Given the description of an element on the screen output the (x, y) to click on. 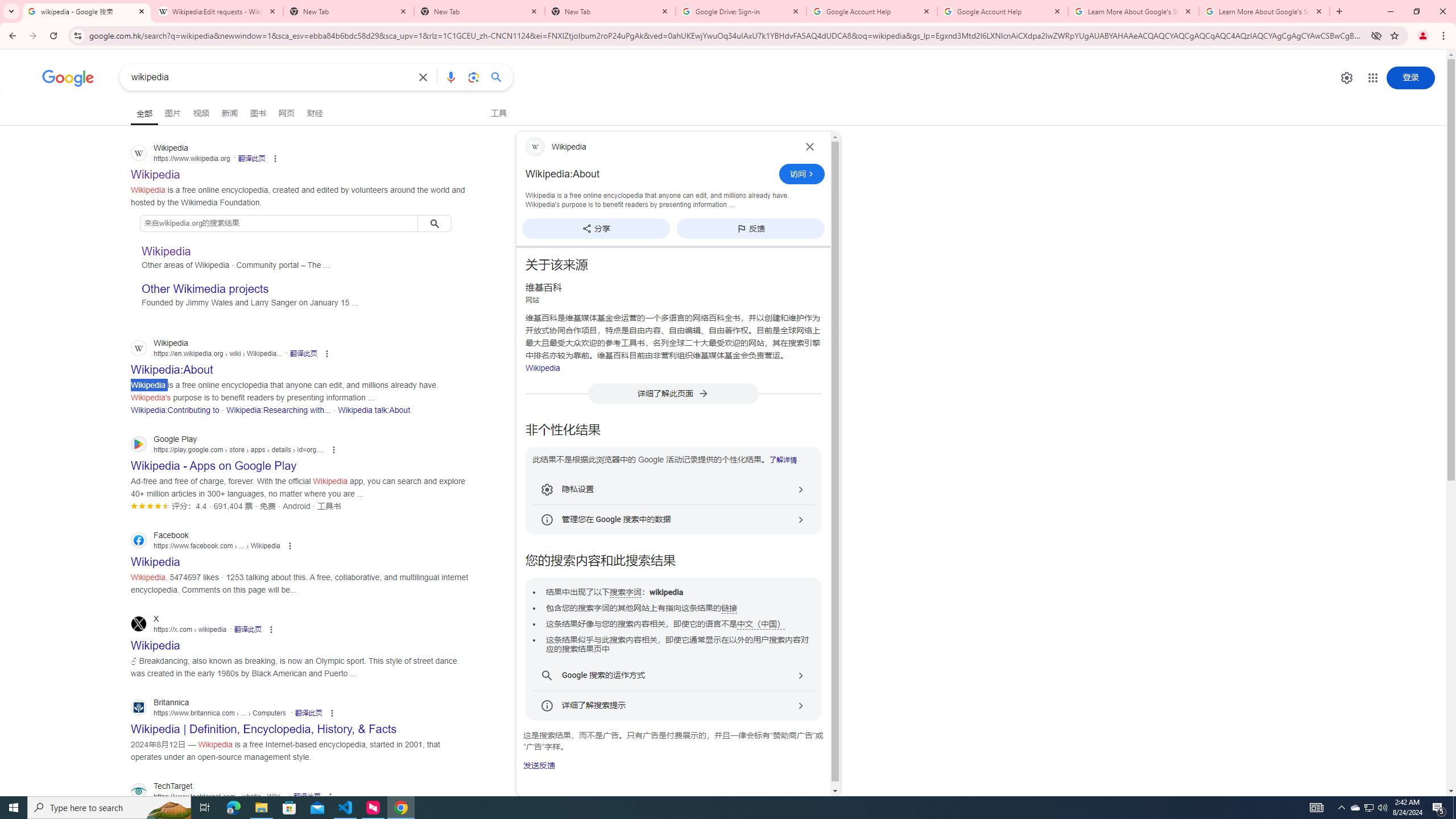
Wikipedia:About (648, 173)
